Given the description of an element on the screen output the (x, y) to click on. 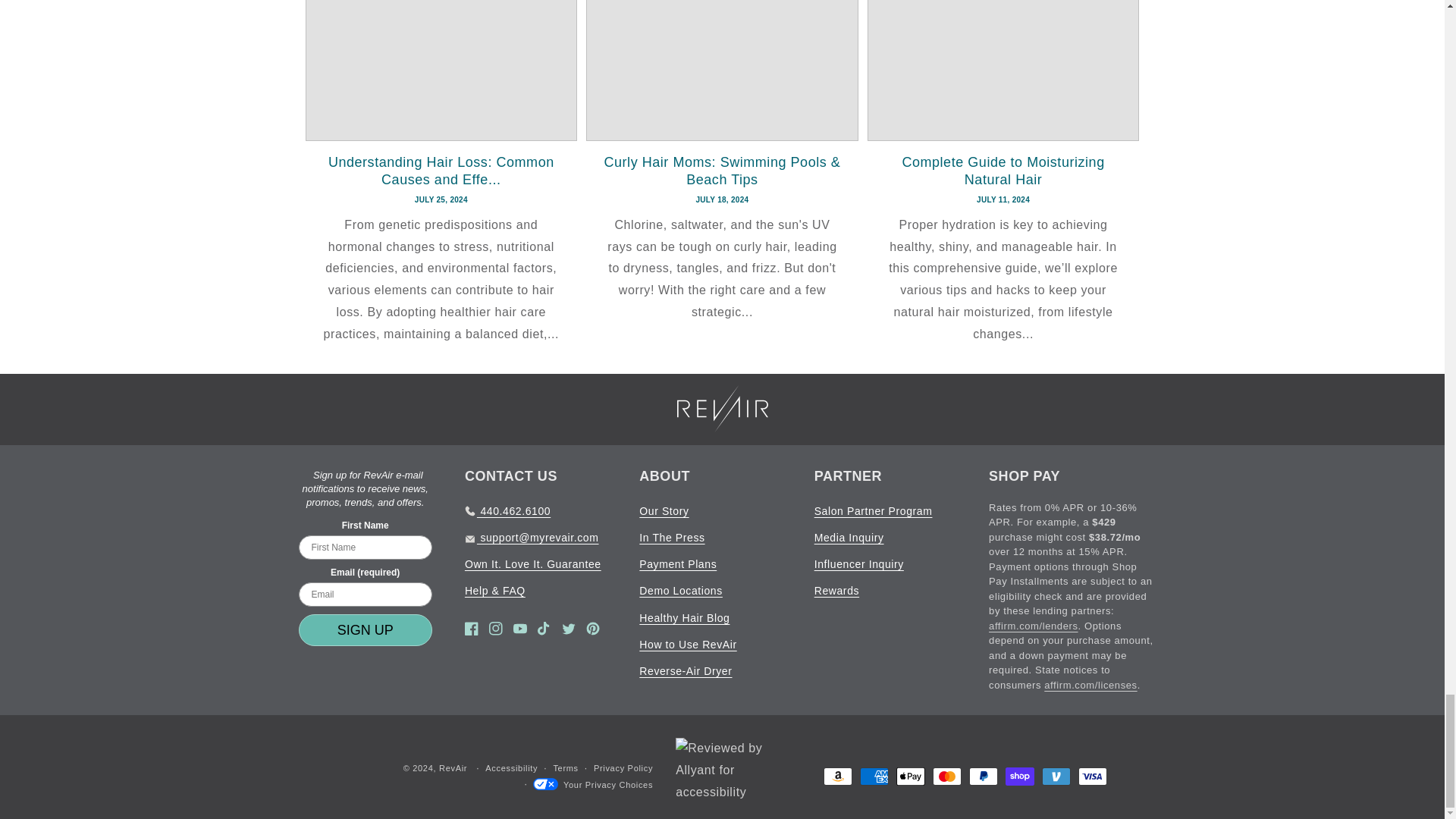
RevAir logo (722, 408)
